Given the description of an element on the screen output the (x, y) to click on. 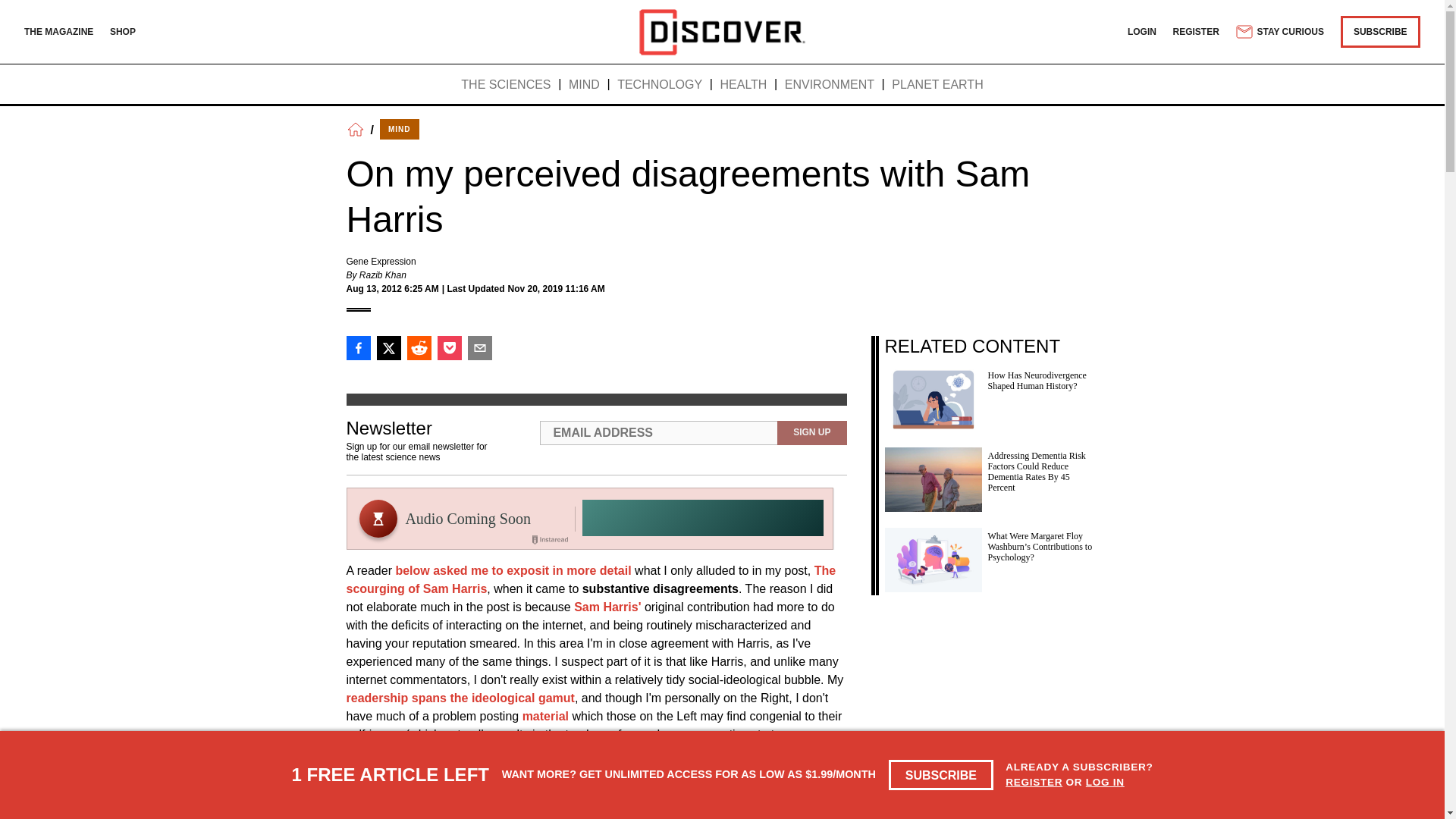
PLANET EARTH (936, 84)
SIGN UP (811, 432)
Razib Khan (382, 275)
MIND (399, 128)
LOGIN (1141, 31)
token conservative (659, 752)
MIND (584, 84)
HEALTH (743, 84)
material (545, 716)
The scourging of Sam Harris (590, 579)
